Given the description of an element on the screen output the (x, y) to click on. 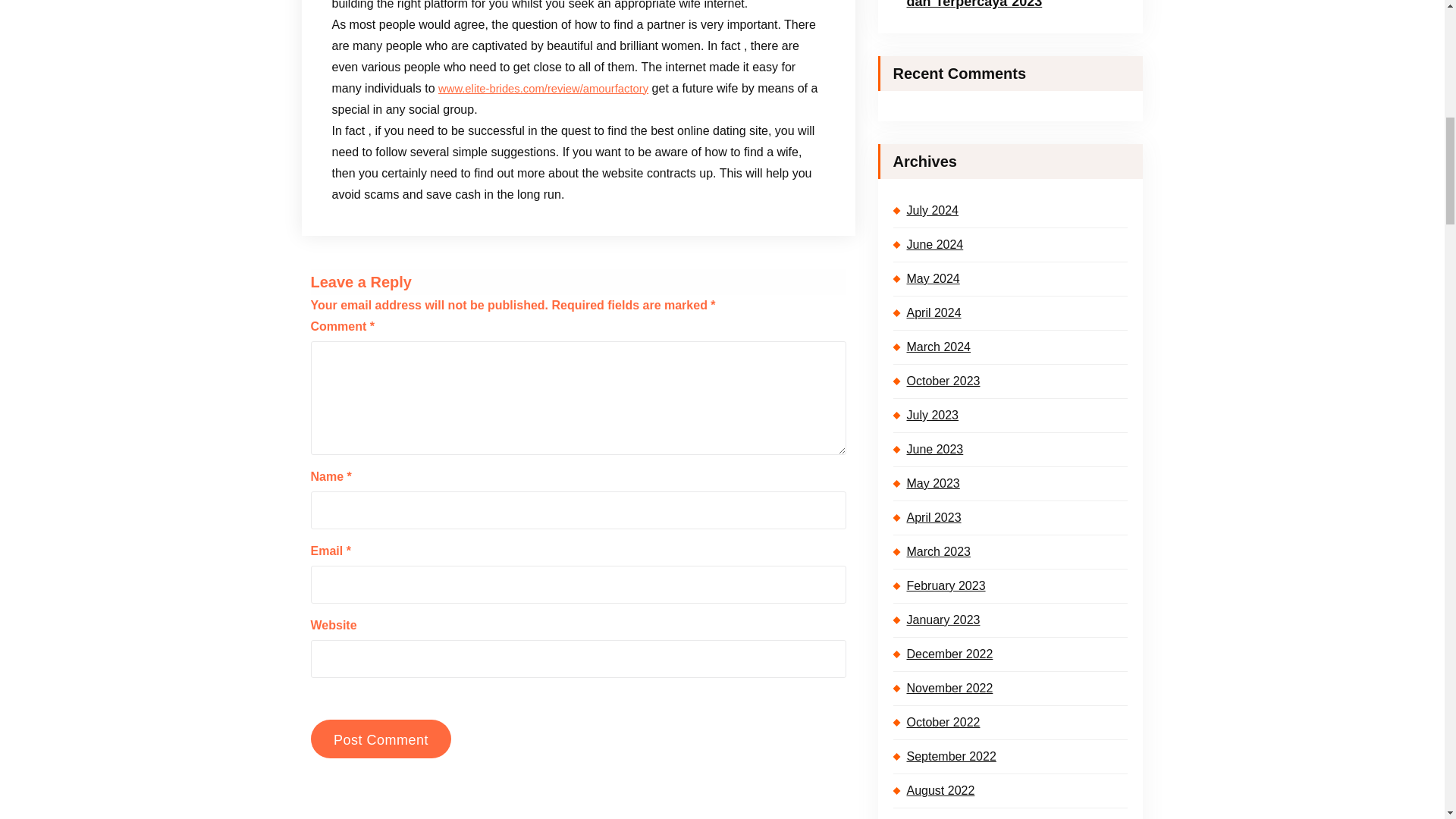
Post Comment (381, 738)
